Given the description of an element on the screen output the (x, y) to click on. 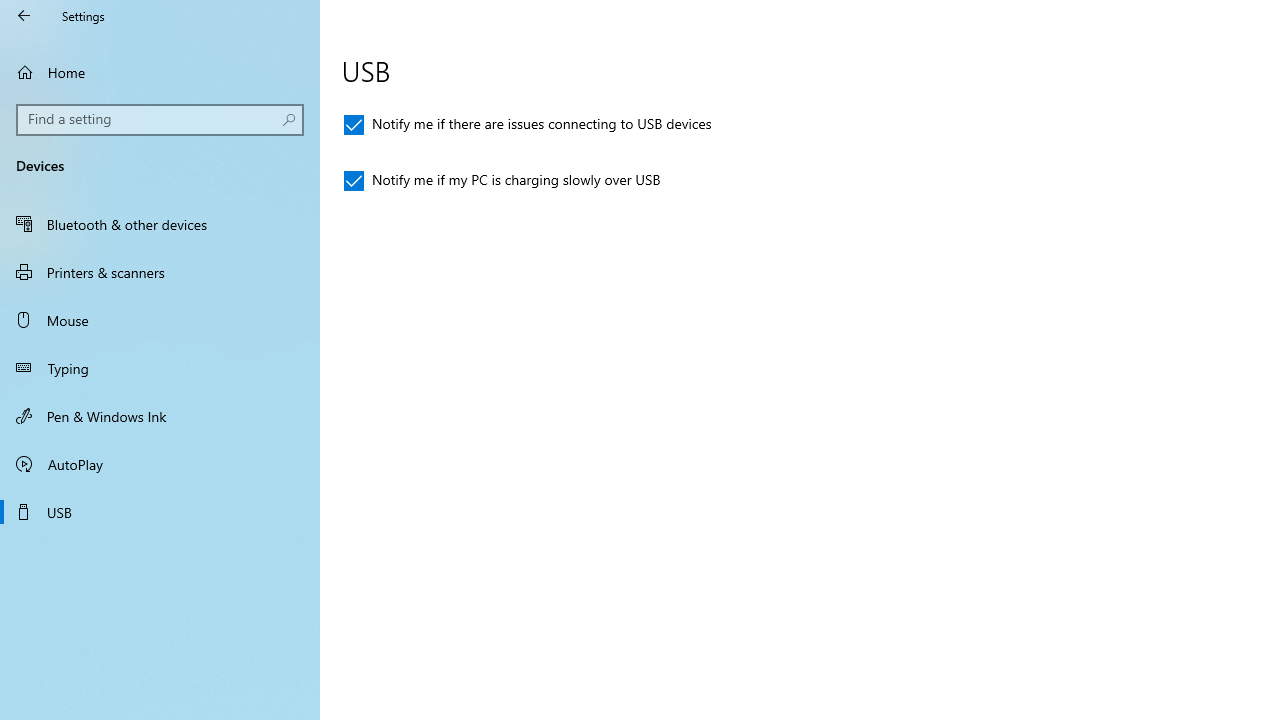
Search box, Find a setting (160, 119)
Back (24, 15)
Printers & scanners (160, 271)
Bluetooth & other devices (160, 223)
Mouse (160, 319)
Home (160, 71)
Notify me if my PC is charging slowly over USB (502, 180)
Pen & Windows Ink (160, 415)
Notify me if there are issues connecting to USB devices (527, 124)
USB (160, 511)
AutoPlay (160, 463)
Typing (160, 367)
